Given the description of an element on the screen output the (x, y) to click on. 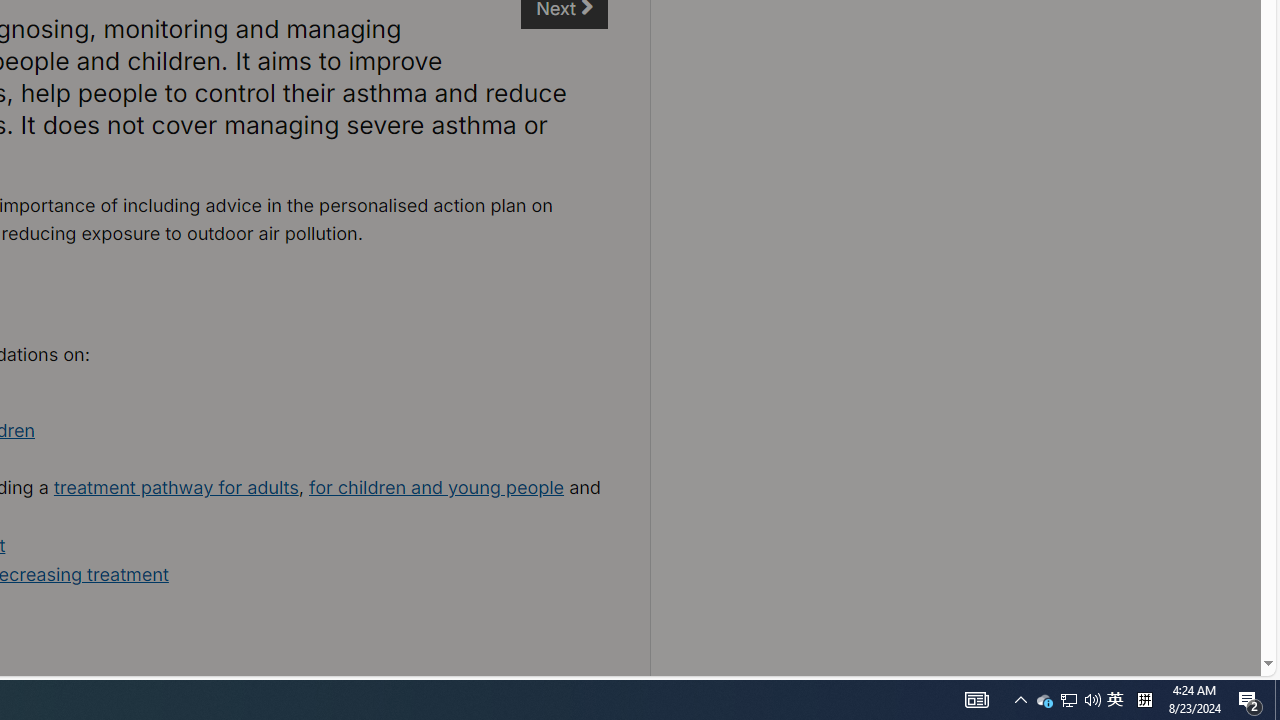
for children and young people (436, 487)
treatment pathway for adults (175, 487)
